Given the description of an element on the screen output the (x, y) to click on. 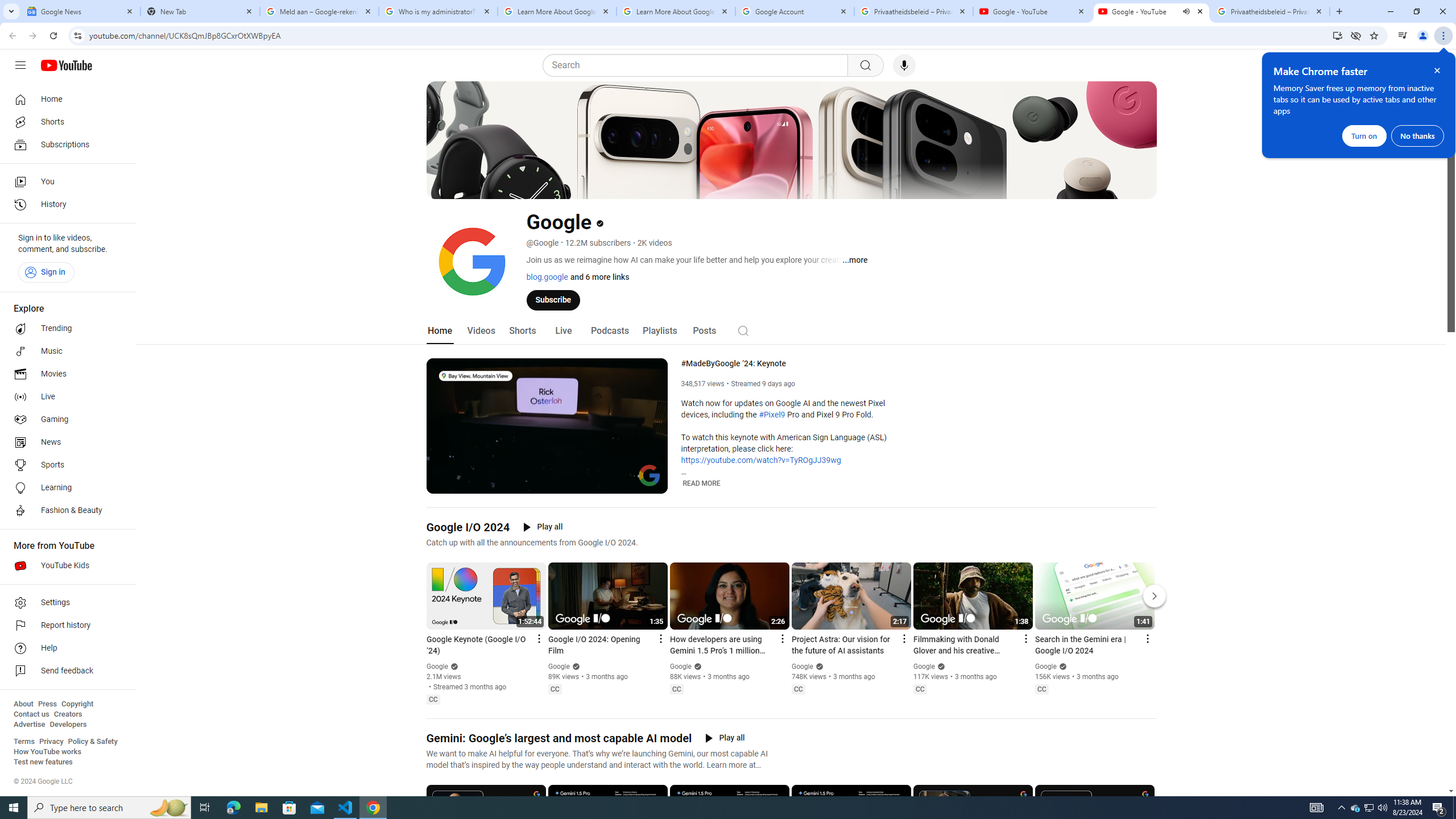
Close help bubble (1436, 69)
Sports (64, 464)
How YouTube works (47, 751)
Contact us (31, 714)
Send feedback (64, 671)
Copyright (77, 703)
No thanks (1417, 135)
Press (46, 703)
Videos (481, 330)
Google - YouTube - Audio playing (1150, 11)
Shorts (64, 121)
